Given the description of an element on the screen output the (x, y) to click on. 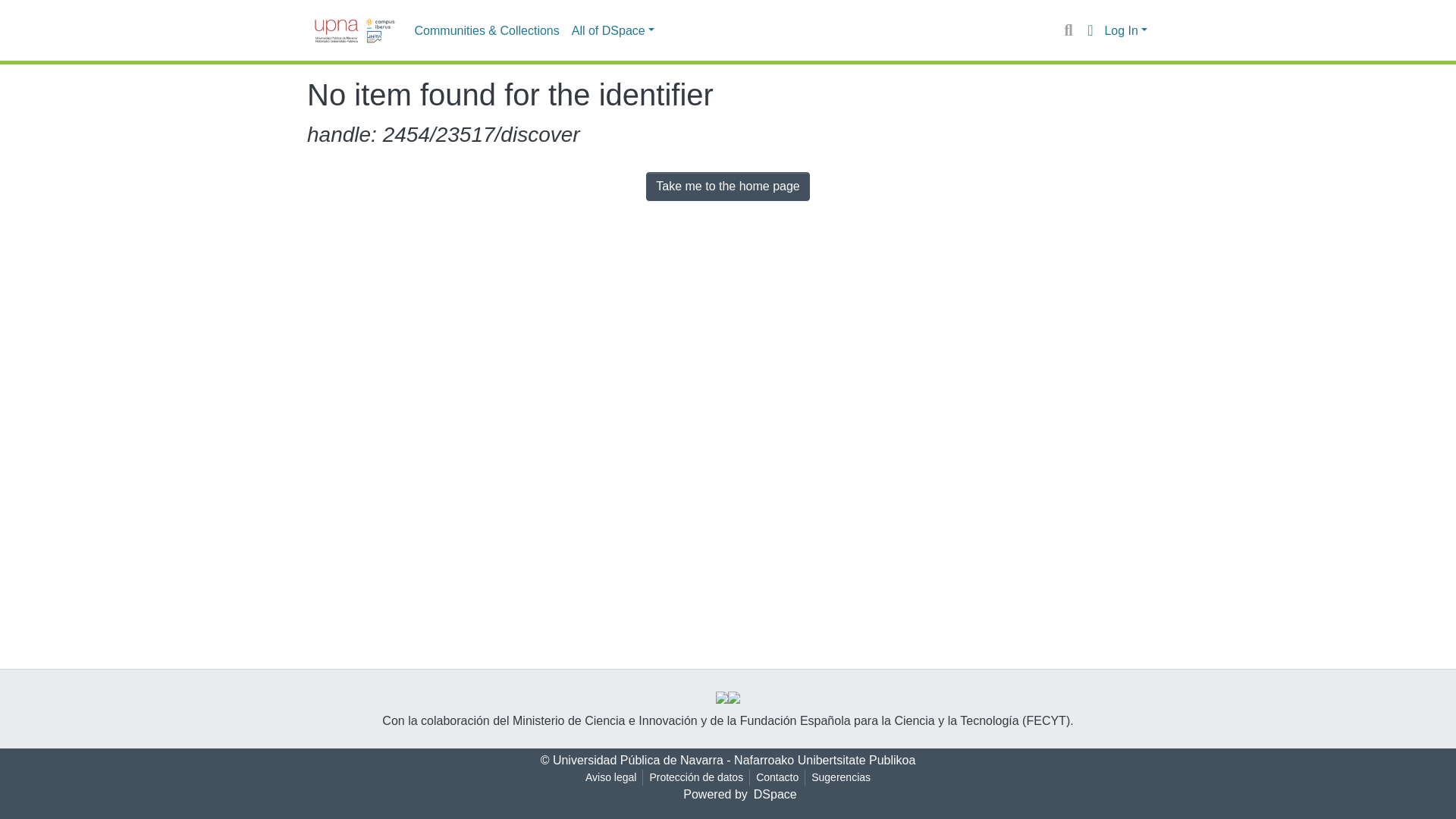
DSpace (775, 794)
Sugerencias (840, 777)
Language switch (1089, 30)
All of DSpace (613, 30)
Take me to the home page (727, 185)
Aviso legal (610, 777)
Search (1067, 30)
Log In (1125, 30)
Contacto (777, 777)
